Given the description of an element on the screen output the (x, y) to click on. 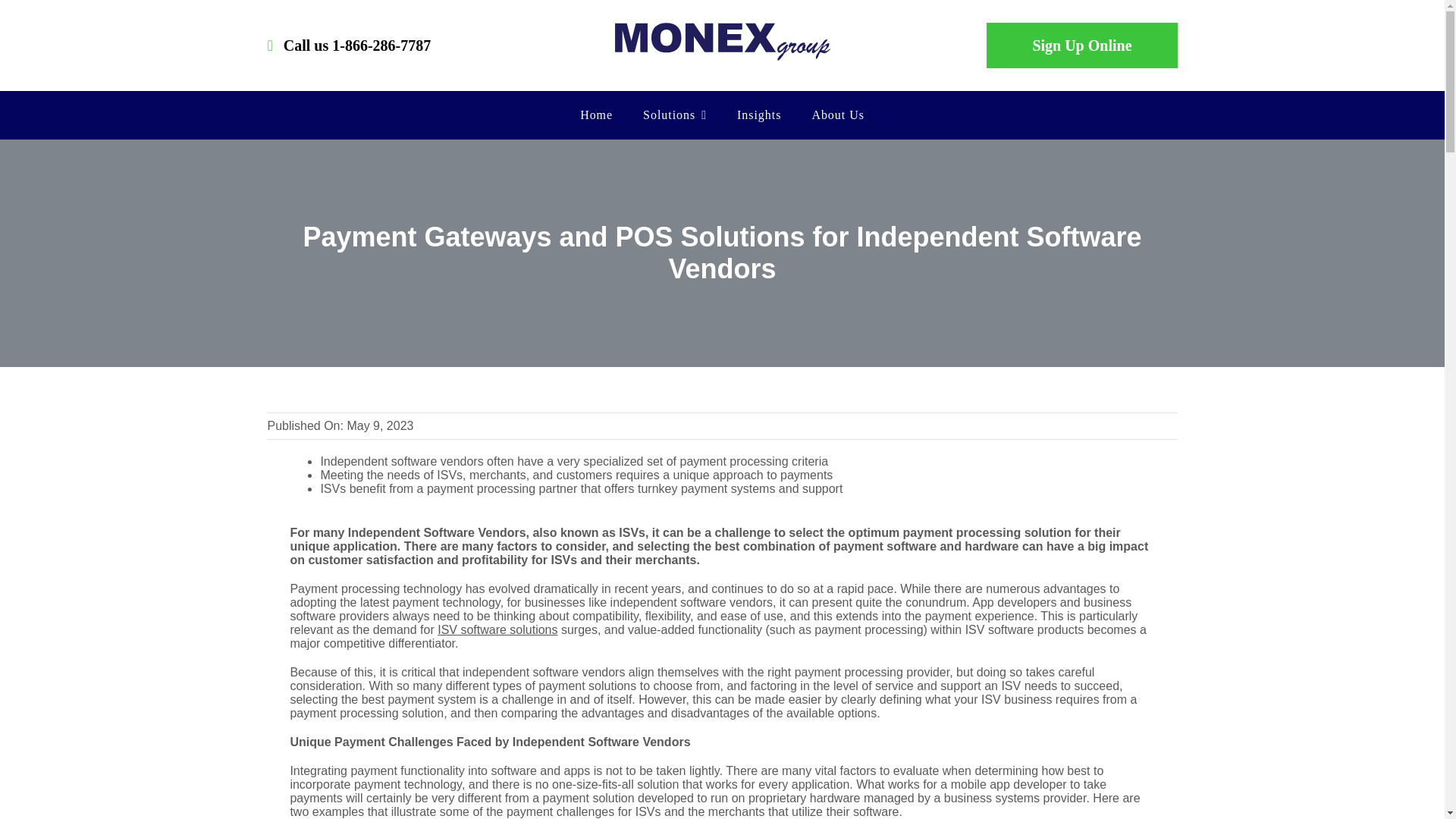
Insights (758, 114)
Call us 1-866-286-7787 (348, 44)
About Us (836, 114)
ISV software solutions (497, 629)
Solutions (674, 114)
Sign Up Online (1081, 44)
